Given the description of an element on the screen output the (x, y) to click on. 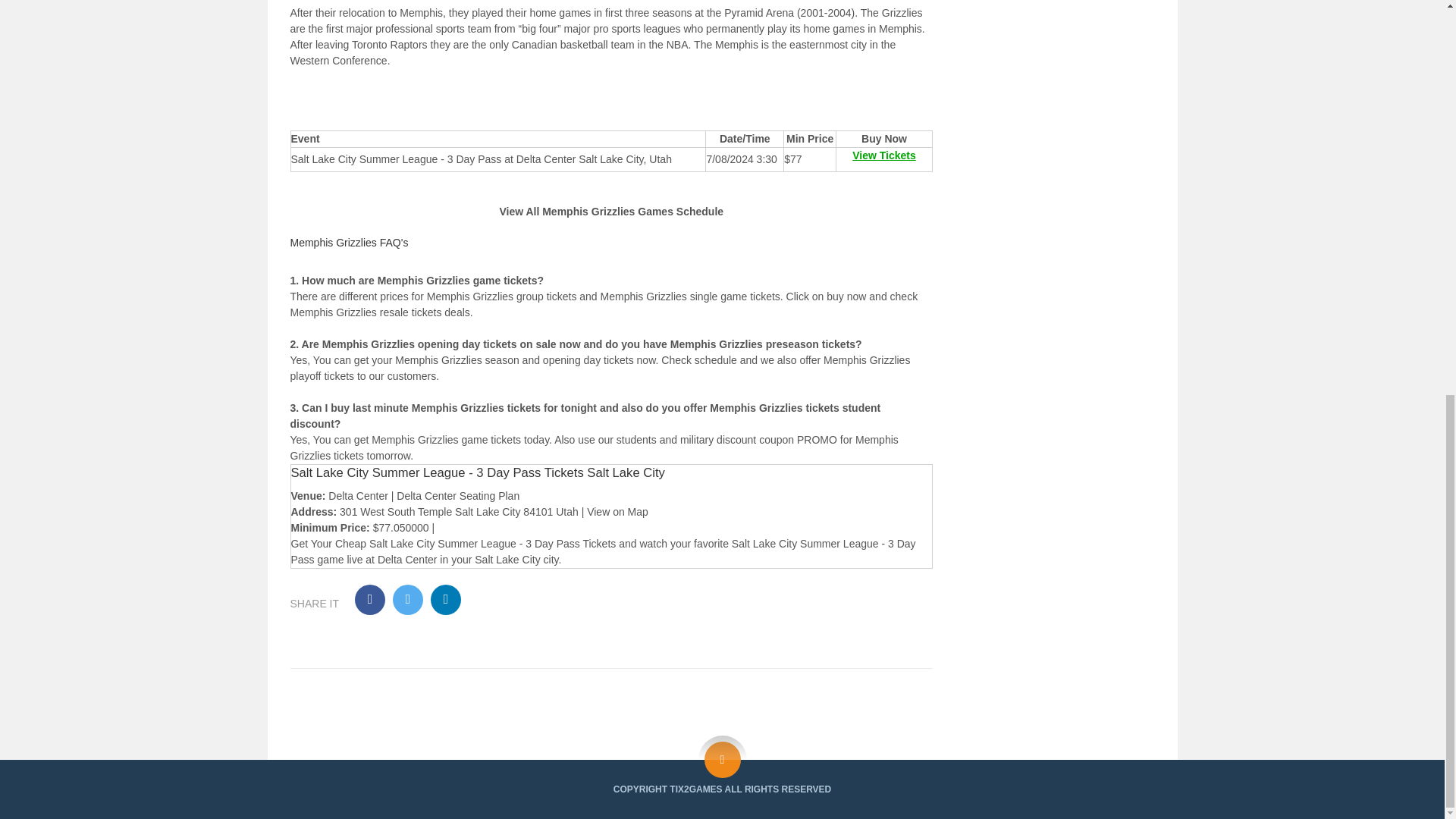
Share on Twitter (408, 599)
Cheap Salt Lake City Summer League - 3 Day Pass Tickets (474, 543)
View All Memphis Grizzlies Games Schedule (611, 211)
Share on Facebook (370, 599)
View on Map (616, 511)
Share on LinkedIn (445, 599)
Delta Center Seating Plan (457, 495)
View Tickets (883, 155)
